Given the description of an element on the screen output the (x, y) to click on. 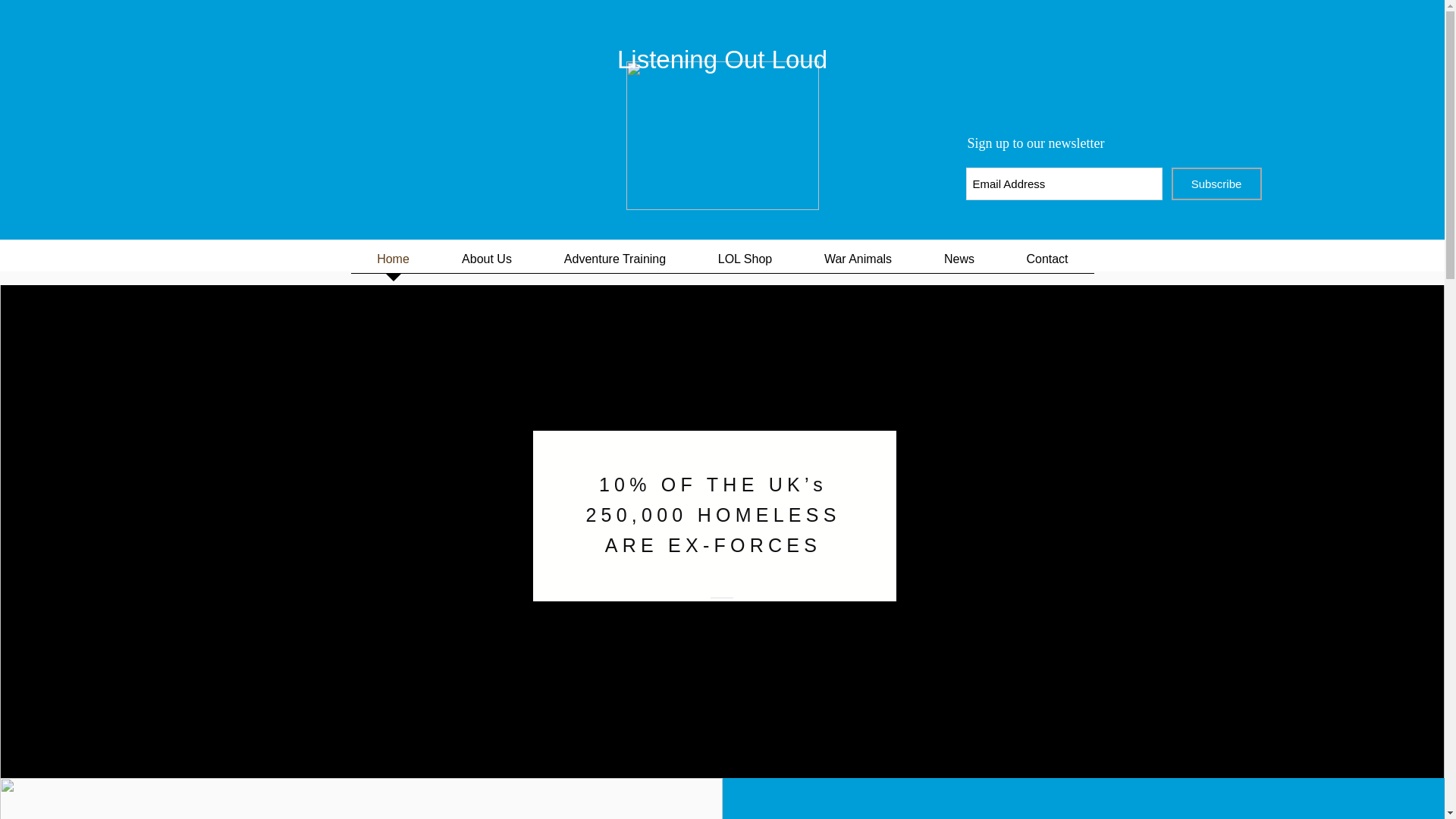
About Us (486, 263)
Home (392, 263)
Subscribe (1215, 183)
Adventure Training (615, 263)
News (958, 263)
Contact (1047, 263)
LOL Shop (744, 263)
War Animals (857, 263)
